Given the description of an element on the screen output the (x, y) to click on. 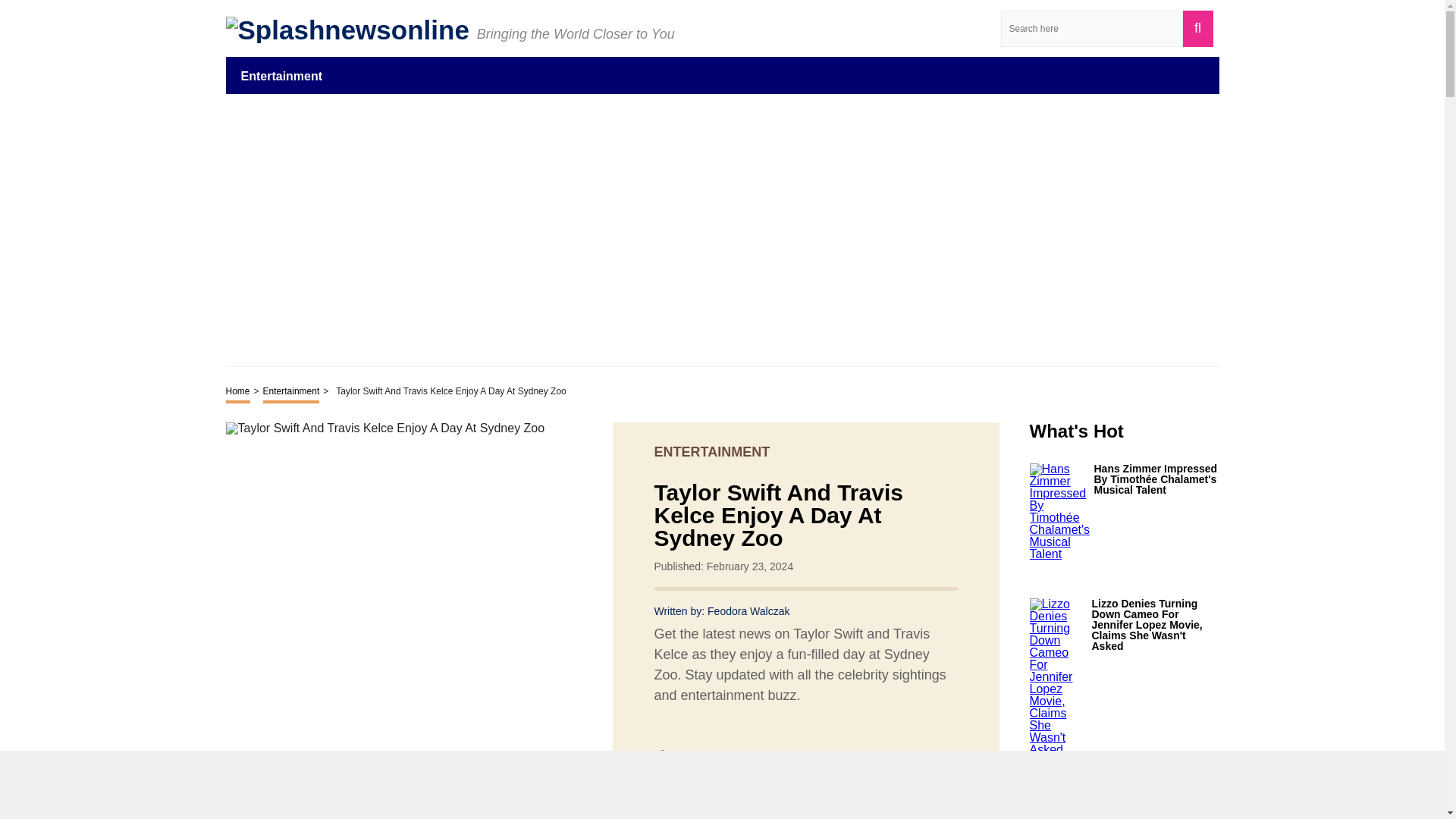
Entertainment (282, 74)
Entertainment (291, 392)
WWE Legend Virgil Passes Away At 61 (1156, 803)
Feodora Walczak (748, 611)
Home (237, 392)
